Given the description of an element on the screen output the (x, y) to click on. 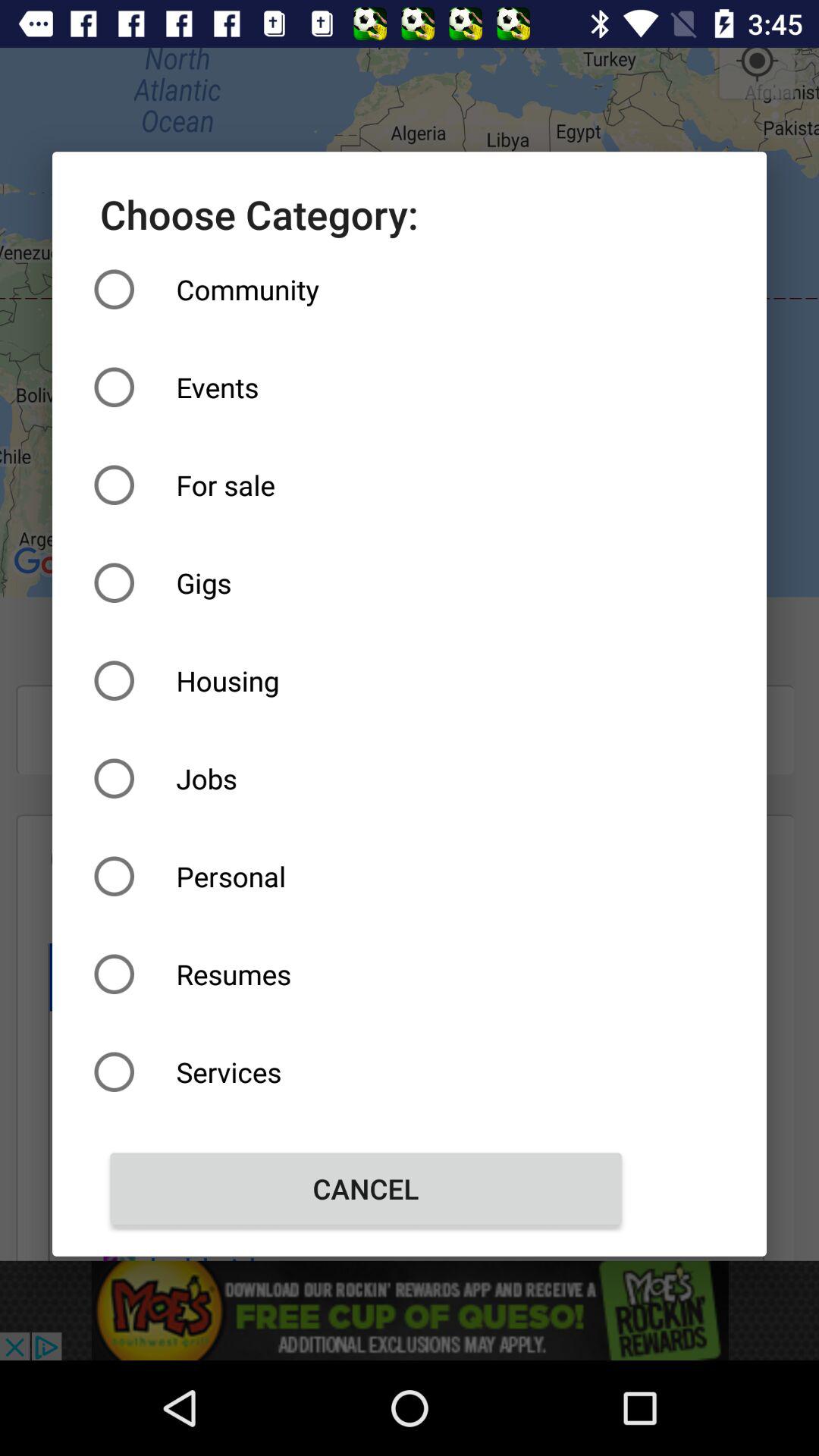
launch services icon (365, 1072)
